Given the description of an element on the screen output the (x, y) to click on. 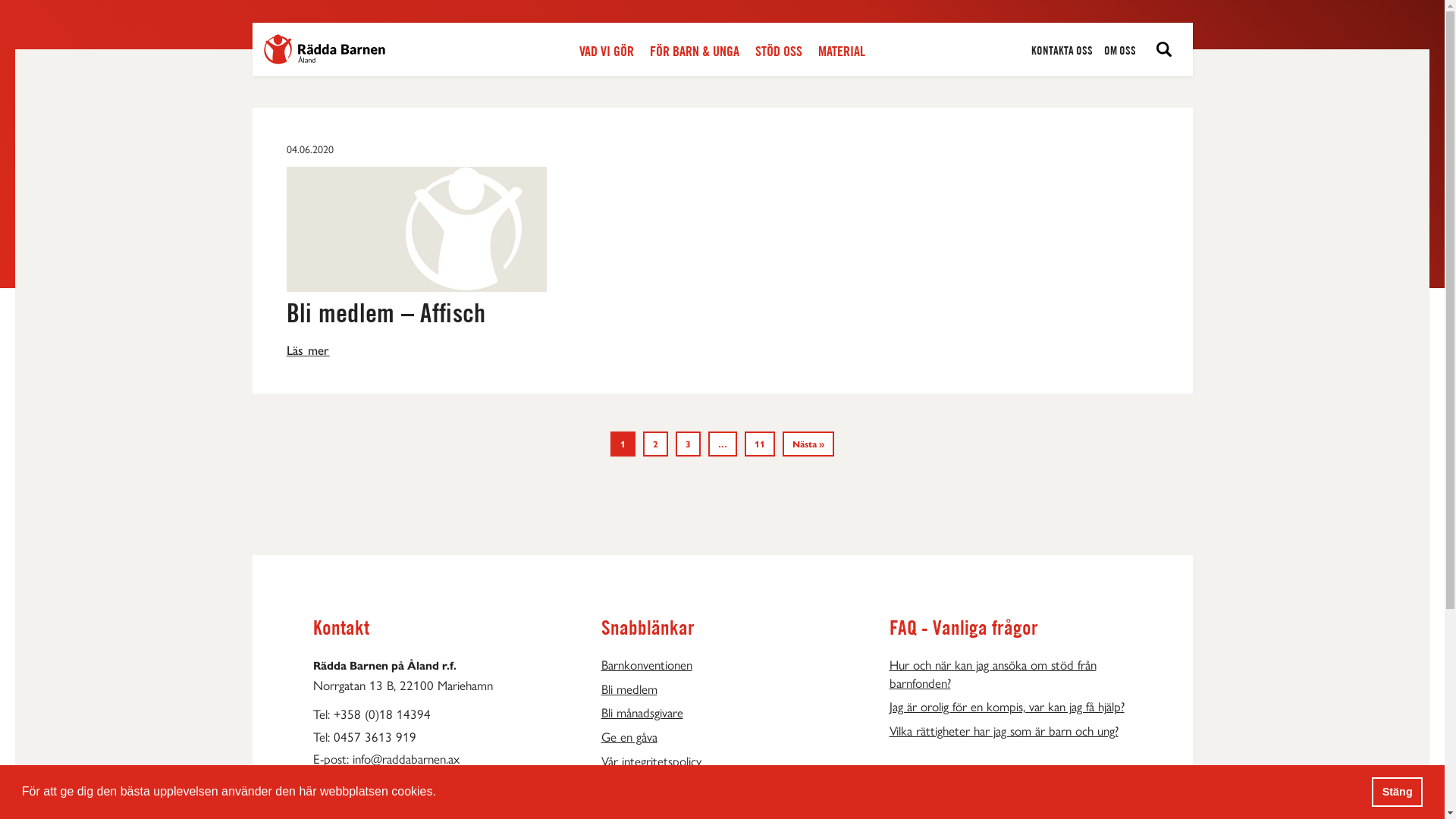
MATERIAL Element type: text (841, 50)
OM OSS Element type: text (1119, 51)
info@raddabarnen.ax Element type: text (404, 758)
3 Element type: text (687, 443)
11 Element type: text (759, 443)
+358 (0)18 14394 Element type: text (381, 714)
2 Element type: text (655, 443)
0457 3613 919 Element type: text (374, 737)
Norrgatan 13 B, 22100 Mariehamn Element type: text (433, 685)
Bli medlem Element type: text (721, 689)
KONTAKTA OSS Element type: text (1061, 51)
Barnkonventionen Element type: text (721, 664)
